Given the description of an element on the screen output the (x, y) to click on. 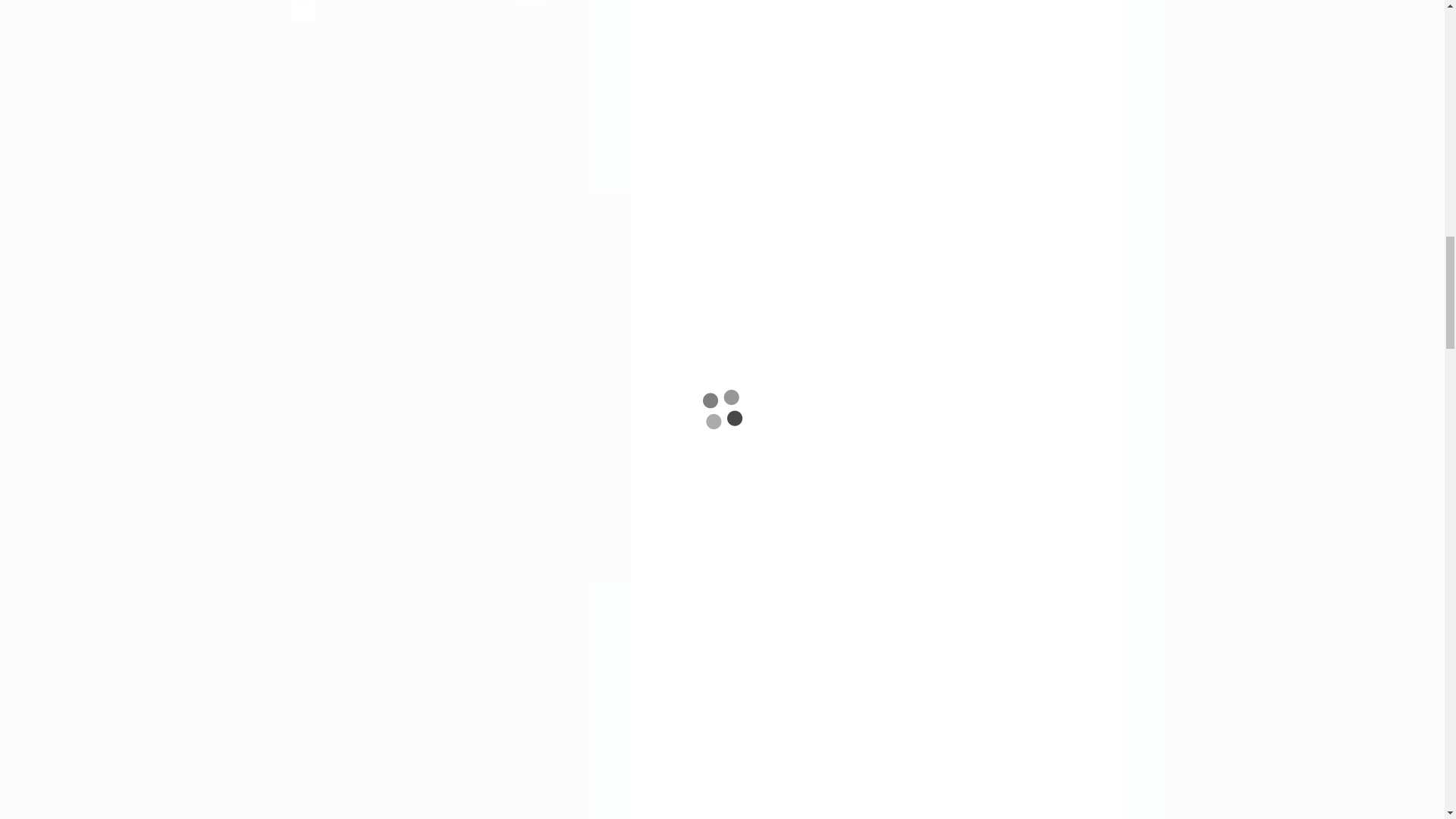
Search (529, 11)
